Given the description of an element on the screen output the (x, y) to click on. 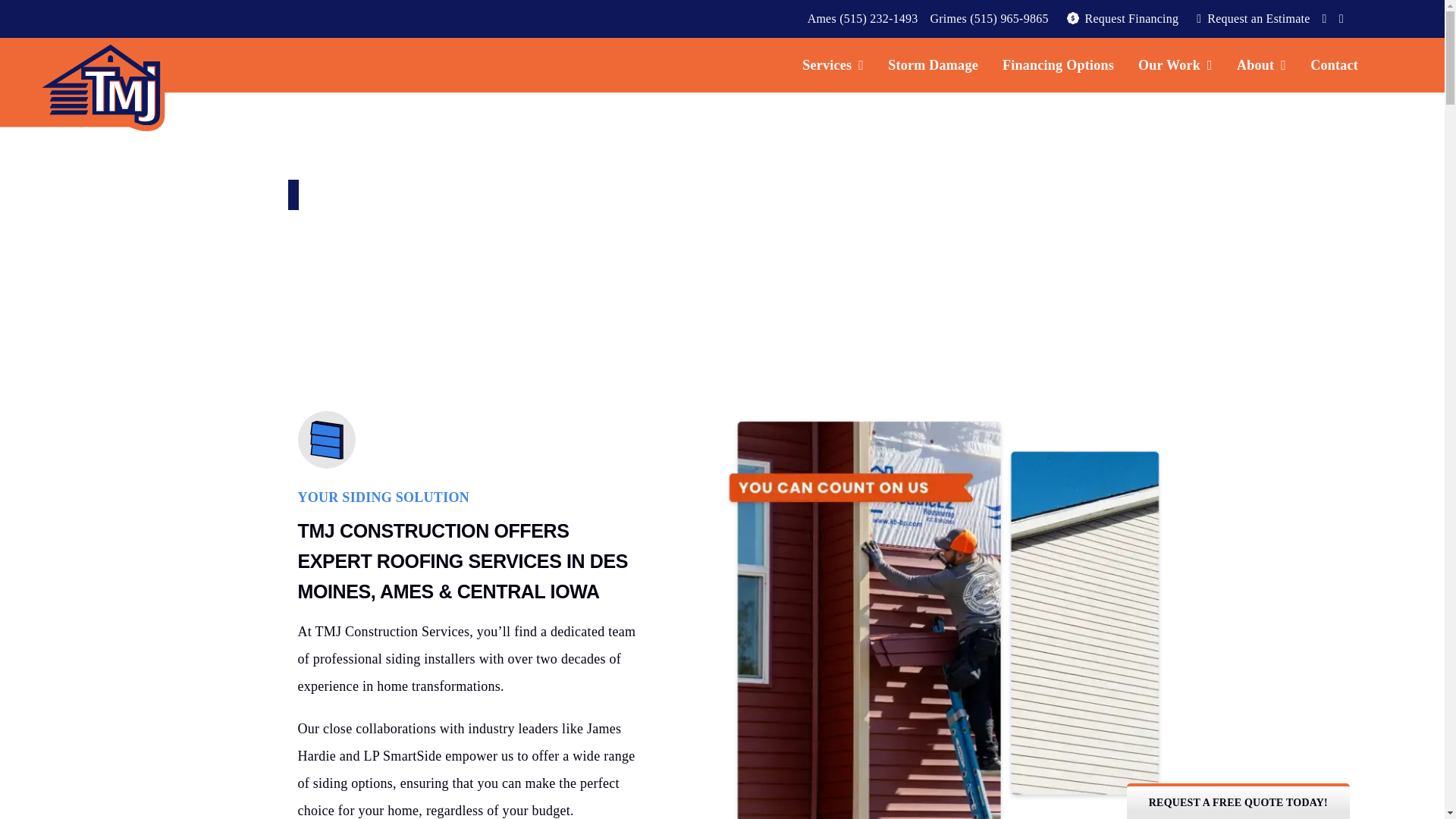
Services (833, 64)
About (1261, 64)
badge-dollar-solid (1072, 18)
TMJ services logo (83, 84)
Group 293 (326, 439)
Financing Options (1057, 64)
Storm Damage (933, 64)
Request an Estimate (1249, 18)
Contact (1334, 64)
Our Work (1174, 64)
Request Financing (1120, 18)
